Given the description of an element on the screen output the (x, y) to click on. 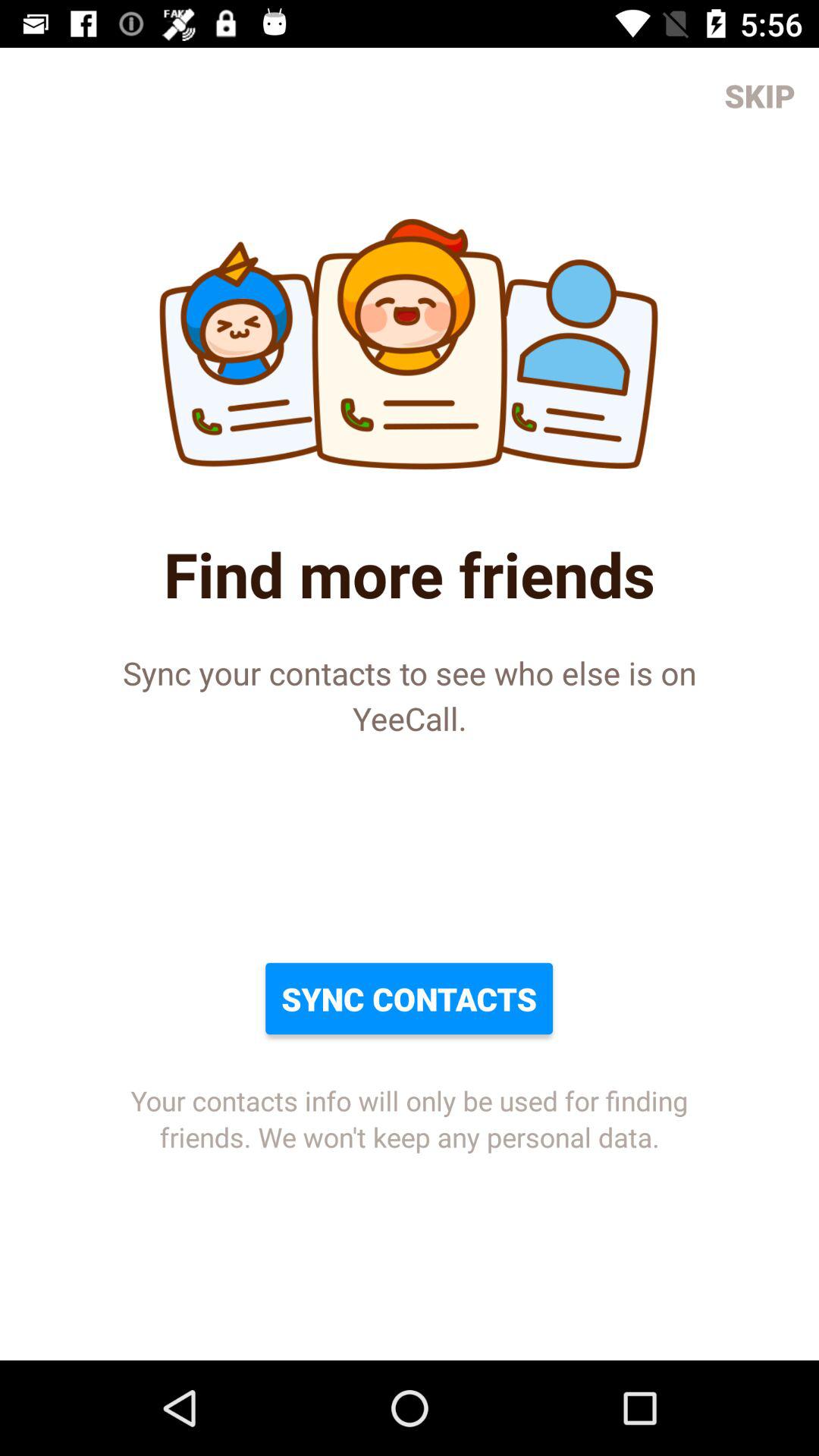
click the icon at the top right corner (759, 95)
